Given the description of an element on the screen output the (x, y) to click on. 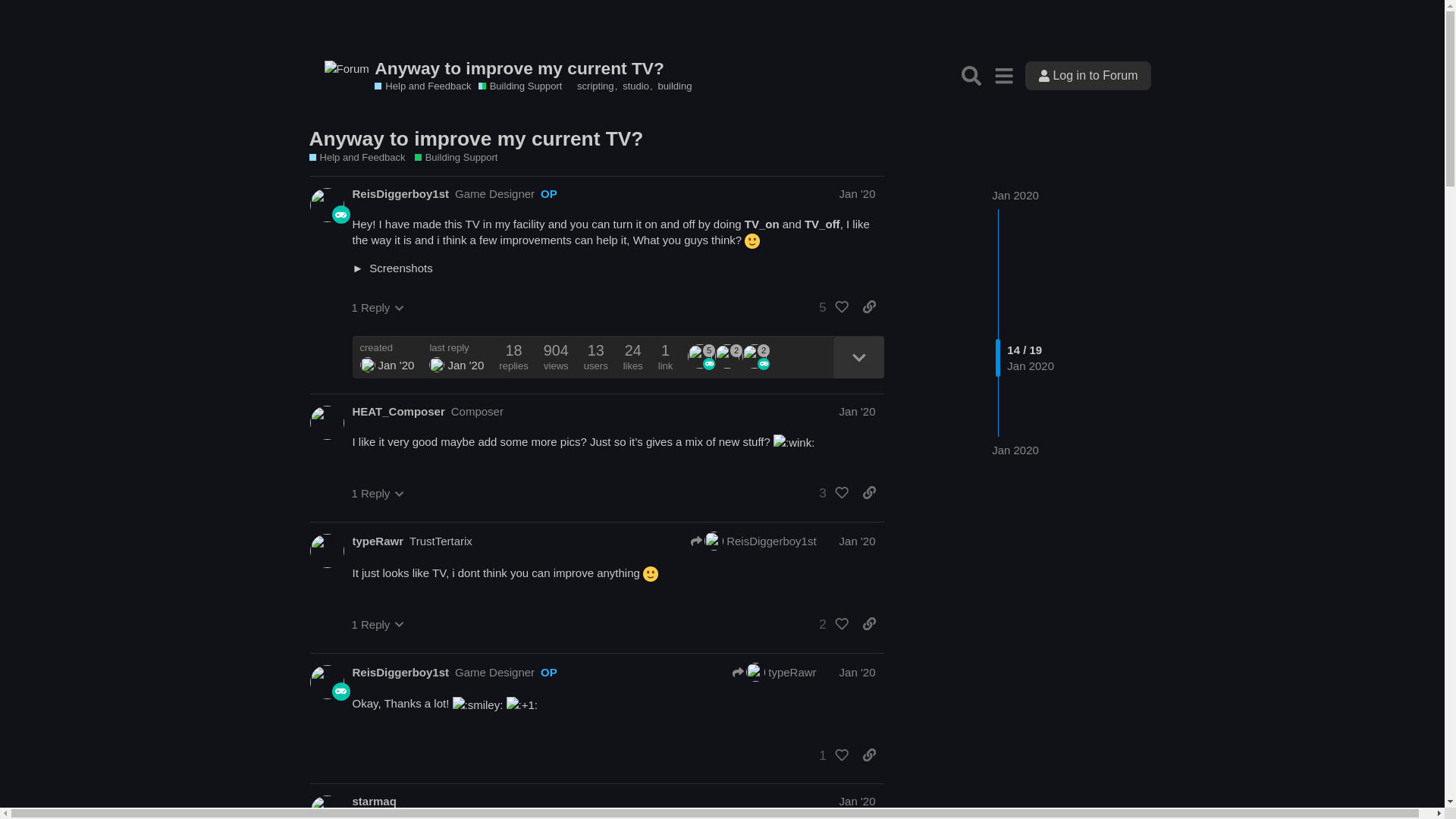
1 Reply (377, 307)
Jan '20 (858, 193)
last reply (456, 347)
building (674, 85)
Log in to Forum (1087, 74)
Anyway to improve my current TV? (534, 68)
Building Support (520, 86)
Jan 2020 (1015, 195)
Search (971, 75)
